Given the description of an element on the screen output the (x, y) to click on. 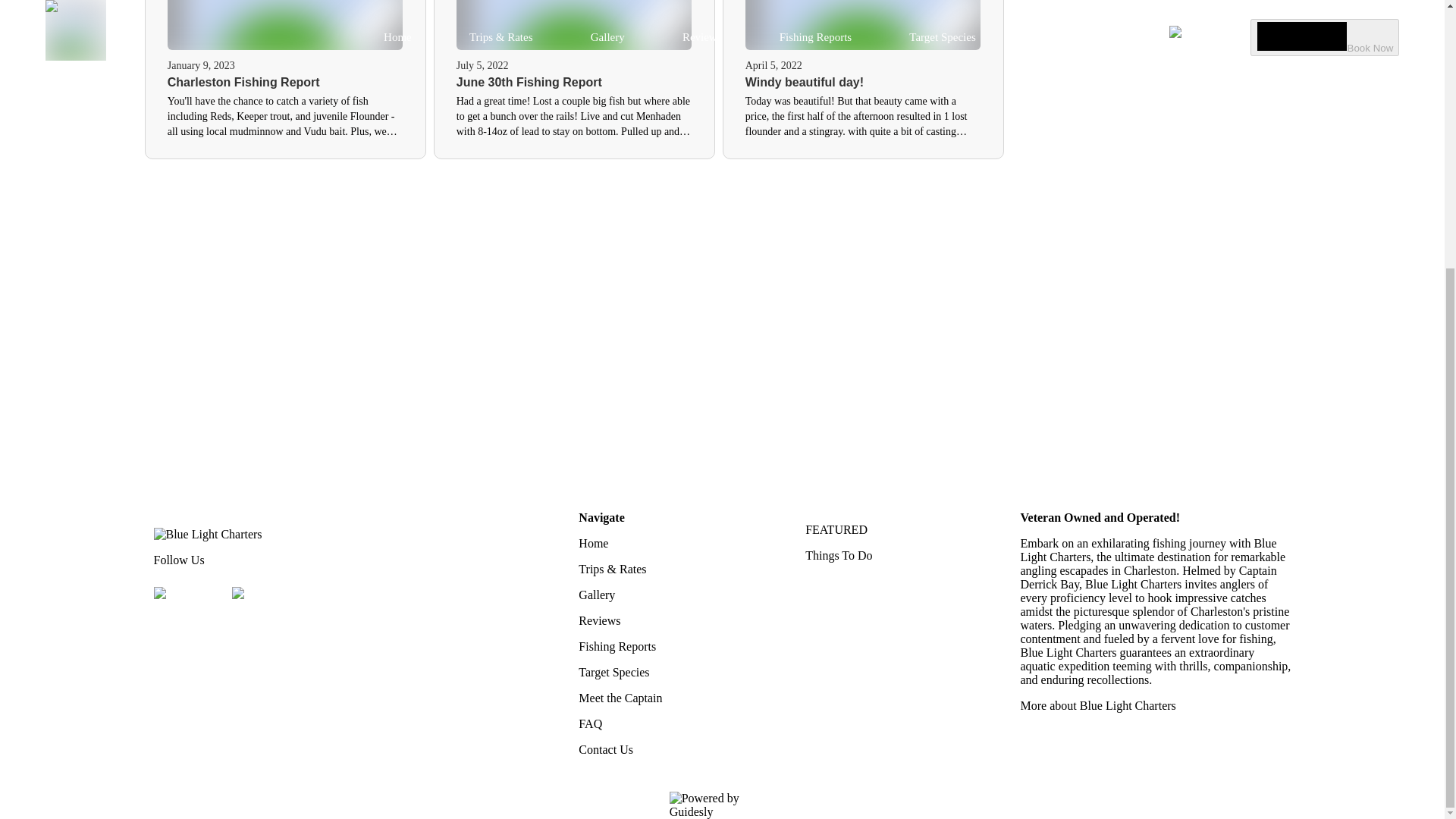
Target Species (671, 672)
Home (671, 543)
Fishing Reports (671, 646)
More about Blue Light Charters (1155, 705)
Things To Do (898, 555)
Things To Do (898, 555)
Reviews (671, 621)
FAQ (671, 724)
Privacy Policy (1268, 805)
Gallery (671, 594)
Meet the Captain (671, 698)
Contact Us (671, 749)
